Given the description of an element on the screen output the (x, y) to click on. 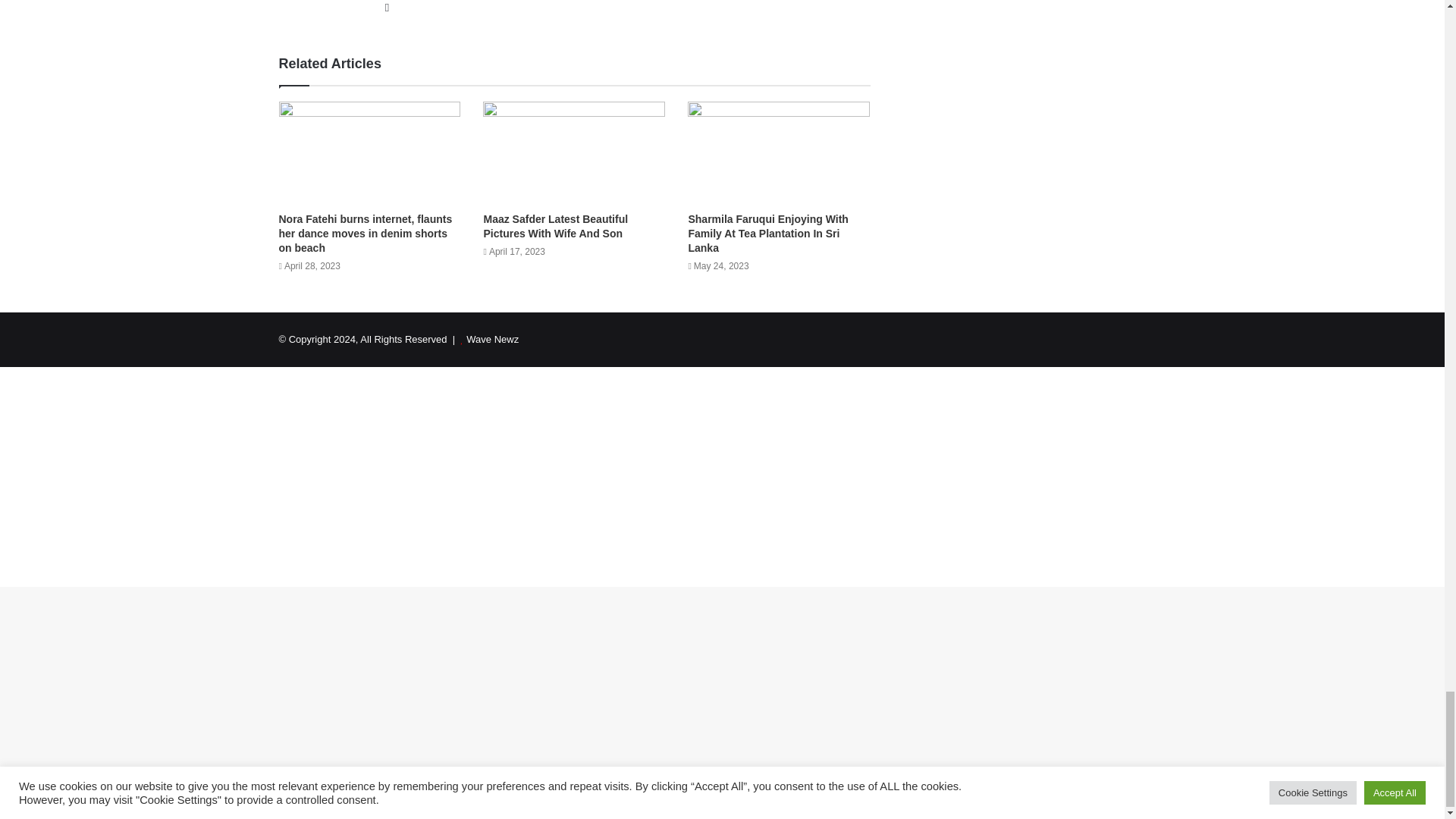
Website (386, 8)
Maaz Safder Latest Beautiful Pictures With Wife And Son (555, 225)
